Given the description of an element on the screen output the (x, y) to click on. 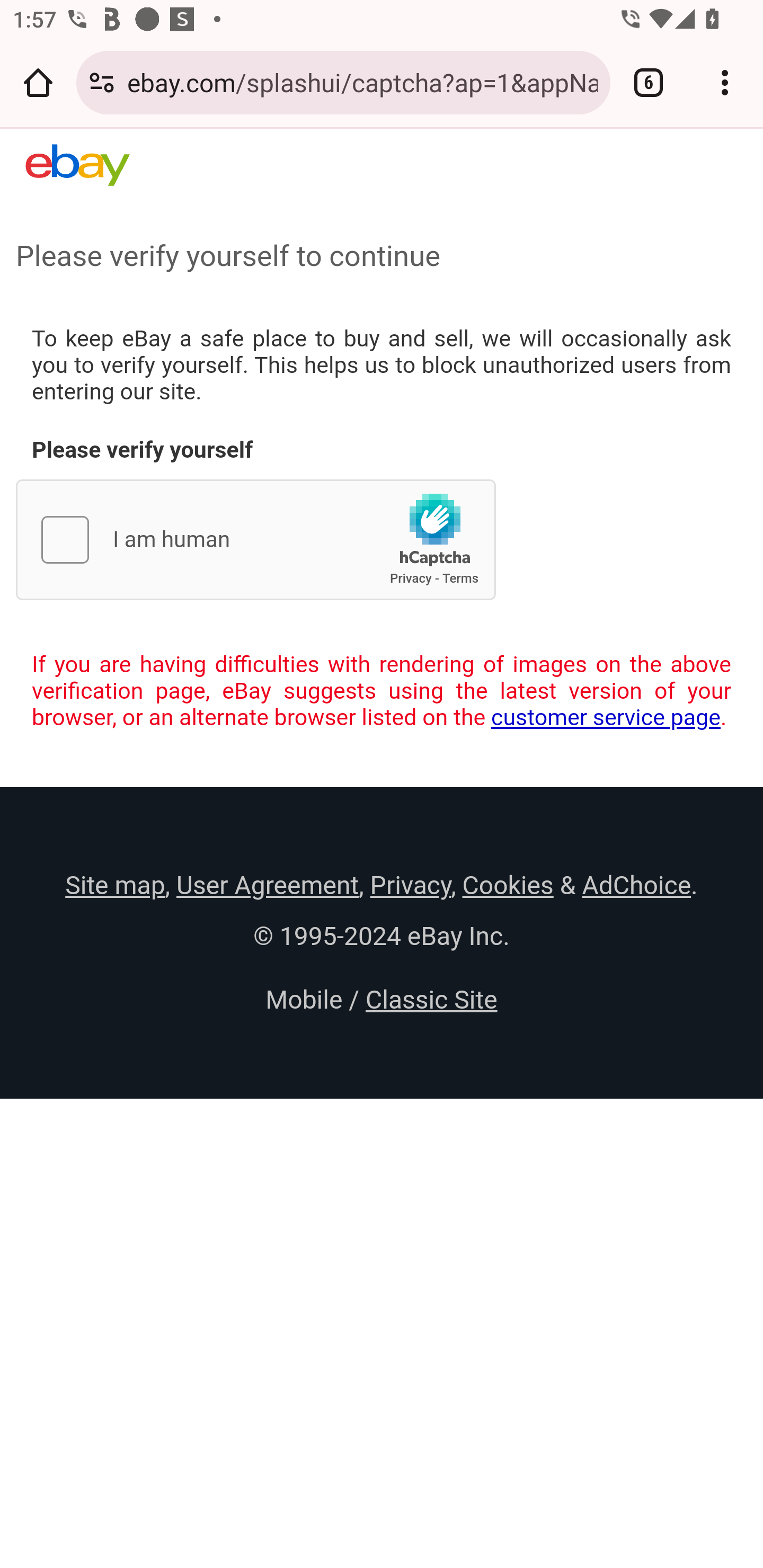
Open the home page (38, 82)
Connection is secure (101, 82)
Switch or close tabs (648, 82)
Customize and control Google Chrome (724, 82)
eBay Home (77, 165)
hCaptcha Privacy Policy Privacy (410, 578)
hCaptcha Terms of Service Terms (459, 578)
customer service page (605, 717)
Site map (114, 884)
User Agreement (266, 884)
Privacy (409, 884)
Cookies (507, 884)
AdChoice (636, 884)
